Given the description of an element on the screen output the (x, y) to click on. 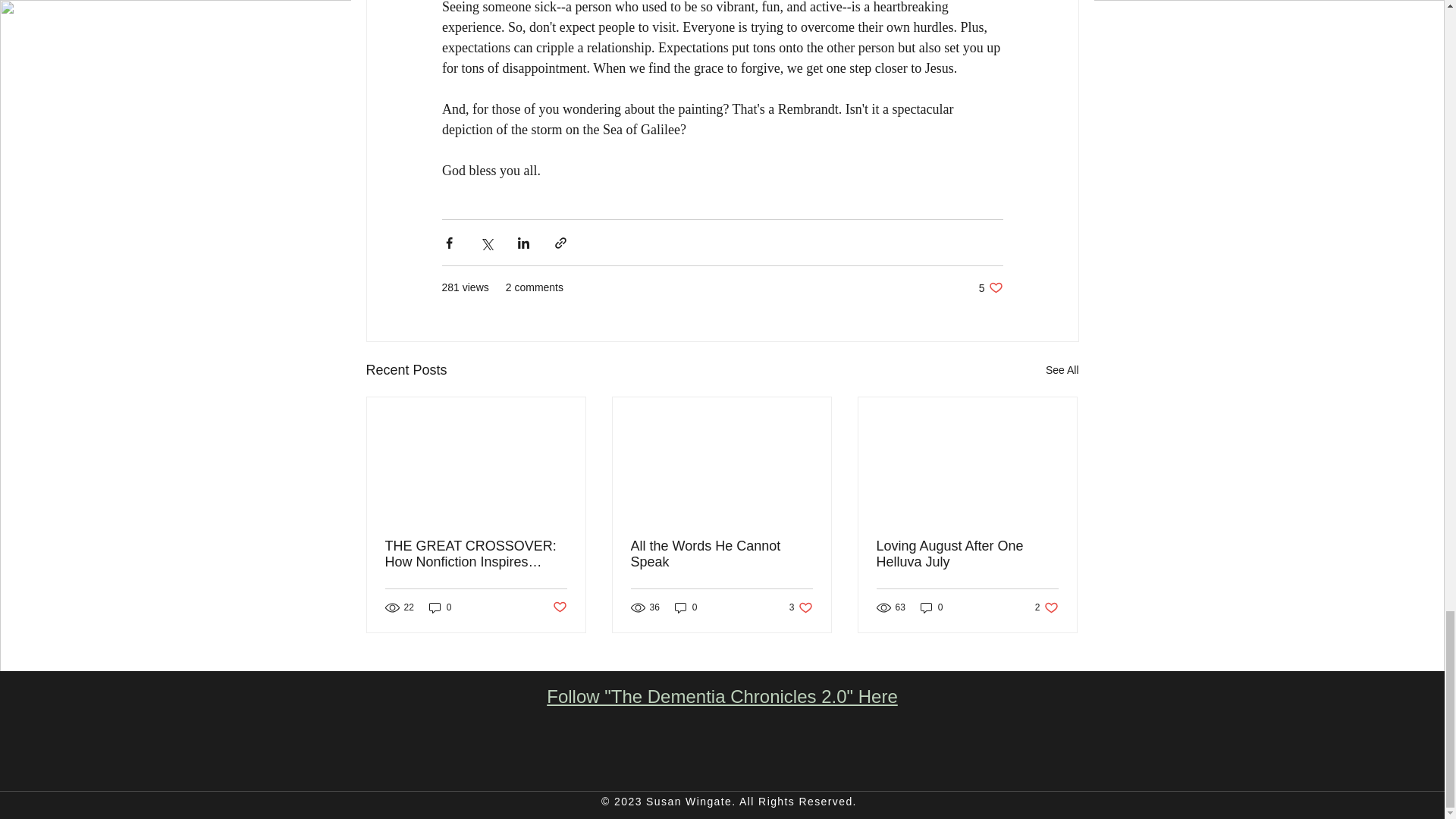
0 (685, 607)
Follow "The Dementia Chronicles 2.0" Here (722, 696)
See All (1061, 370)
0 (440, 607)
0 (990, 287)
Post not marked as liked (931, 607)
